Given the description of an element on the screen output the (x, y) to click on. 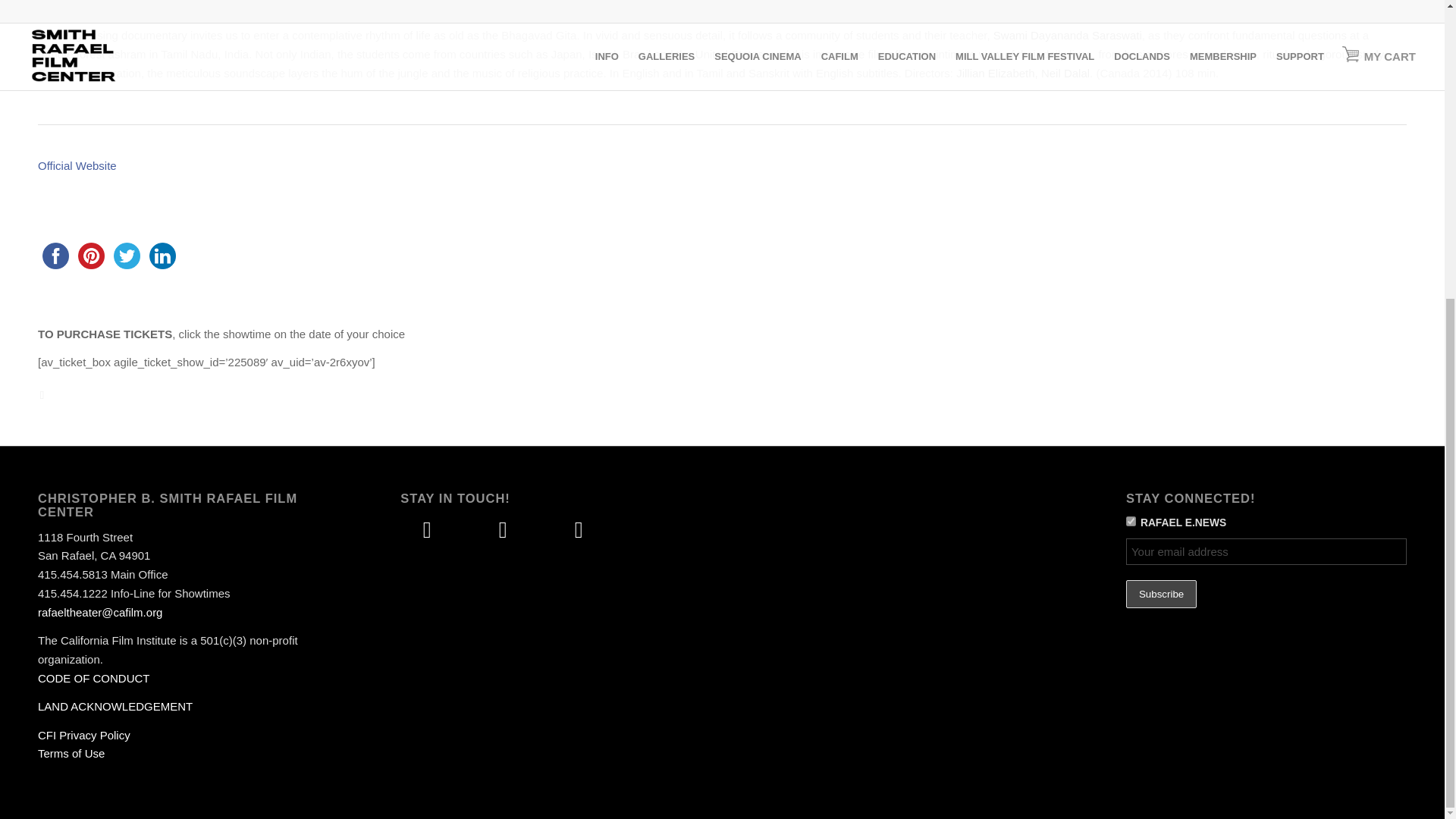
3641185571 (1130, 521)
Subscribe (1160, 593)
